Given the description of an element on the screen output the (x, y) to click on. 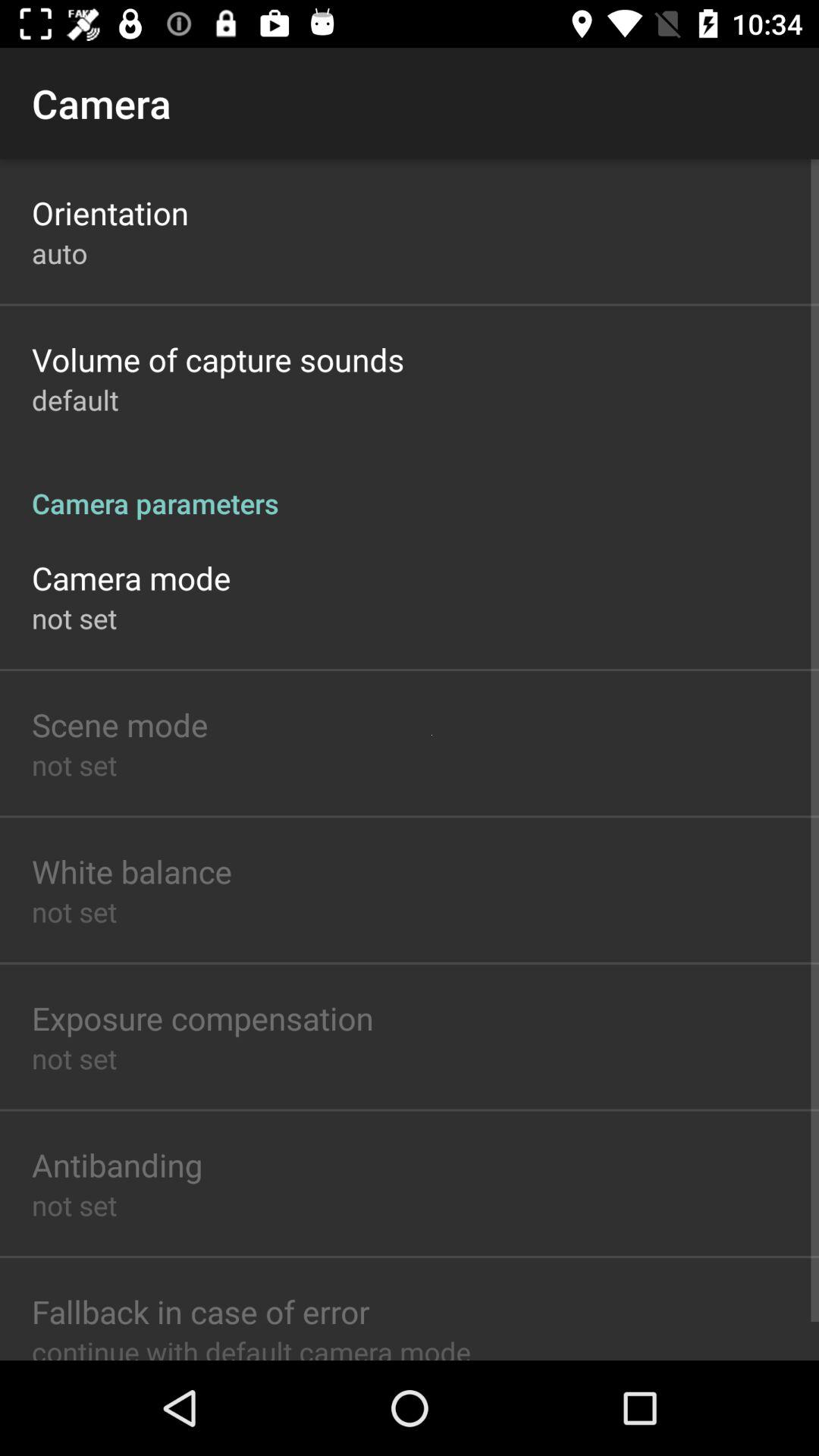
click the item above not set item (131, 870)
